Given the description of an element on the screen output the (x, y) to click on. 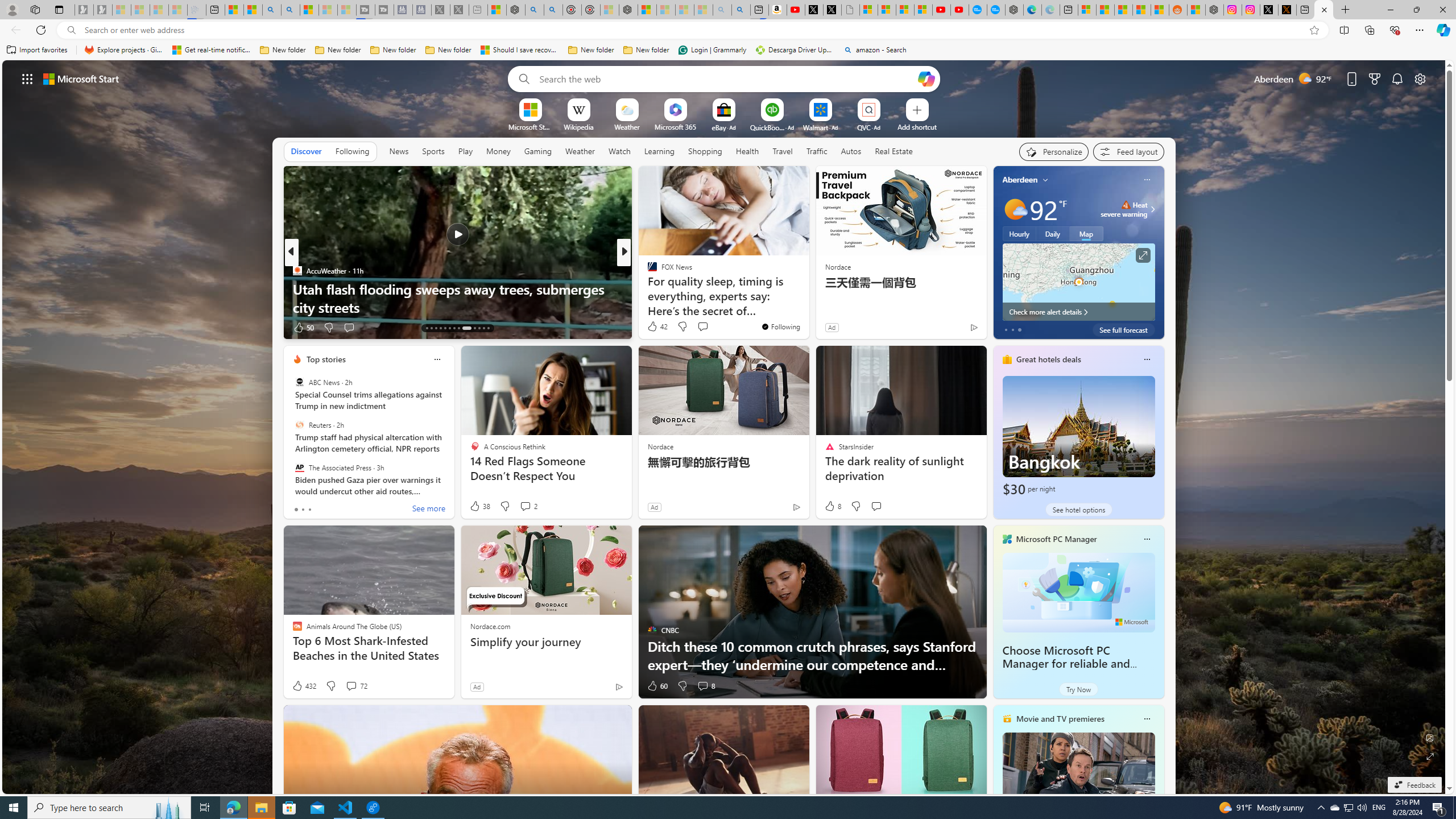
Microsoft Start Sports (529, 126)
View comments 124 Comment (703, 327)
272 Like (654, 327)
Microsoft rewards (1374, 78)
Shanghai, China weather forecast | Microsoft Weather (1105, 9)
Simplify your journey (546, 641)
60 Like (657, 685)
432 Like (303, 685)
